Given the description of an element on the screen output the (x, y) to click on. 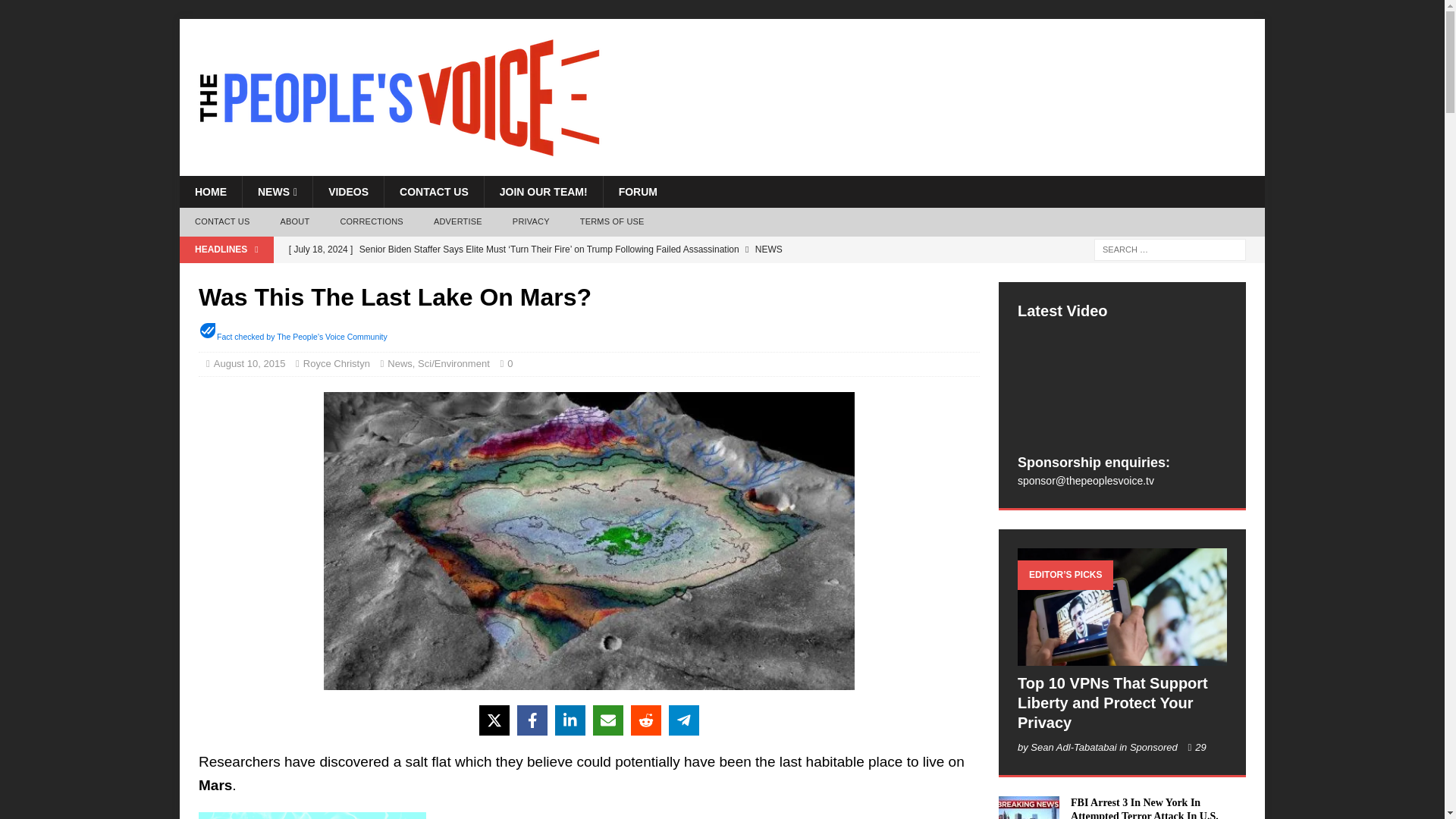
NEWS (277, 192)
ADVERTISE (458, 222)
ABOUT (294, 222)
TERMS OF USE (611, 222)
VIDEOS (348, 192)
CONTACT US (221, 222)
CONTACT US (433, 192)
JOIN OUR TEAM! (542, 192)
HOME (210, 192)
PRIVACY (530, 222)
FORUM (637, 192)
CORRECTIONS (370, 222)
